Given the description of an element on the screen output the (x, y) to click on. 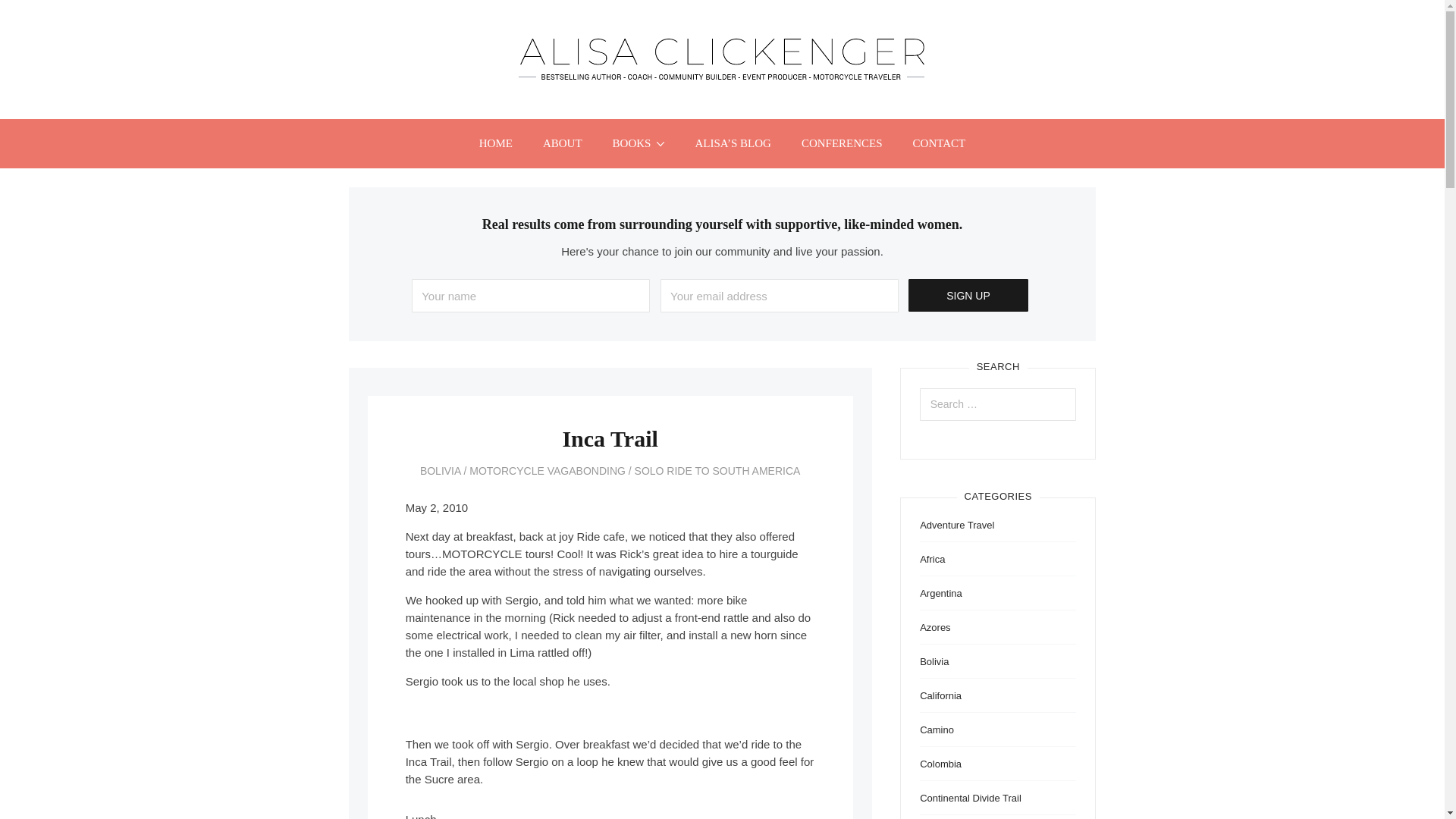
CONFERENCES (842, 143)
ABOUT (561, 143)
Adventure Travel (957, 524)
CONTACT (939, 143)
MOTORCYCLE VAGABONDING (547, 470)
Azores (935, 627)
HOME (495, 143)
California (940, 695)
BOLIVIA (440, 470)
BOOKS (637, 143)
Argentina (941, 593)
Africa (932, 559)
Sign up (967, 295)
SOLO RIDE TO SOUTH AMERICA (717, 470)
Bolivia (934, 661)
